Given the description of an element on the screen output the (x, y) to click on. 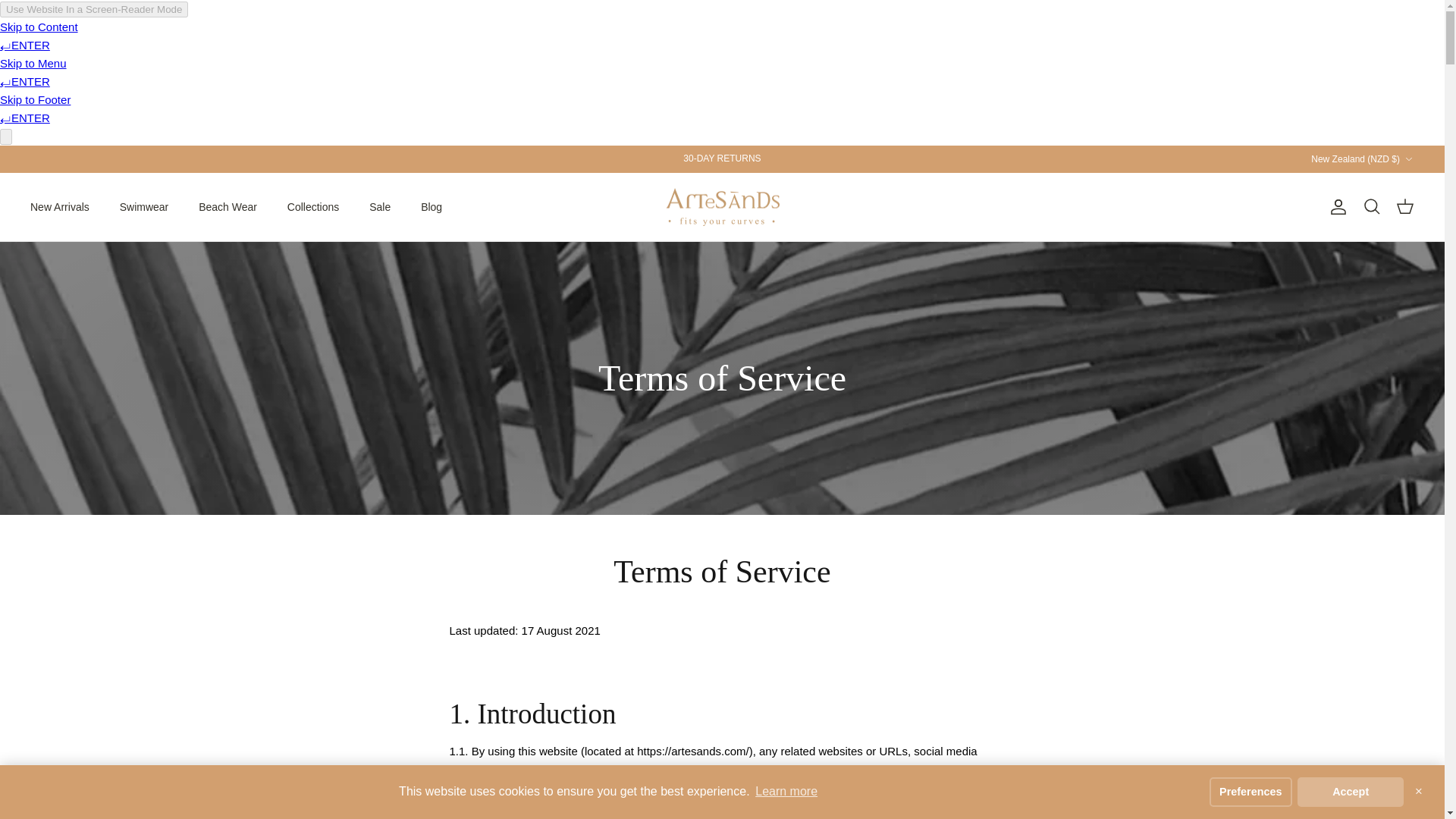
Search (1371, 207)
Collections (312, 206)
Learn more (785, 791)
Cart (1404, 207)
Beach Wear (227, 206)
Account (1335, 207)
Down (1408, 158)
Artesands Swim Australia (721, 207)
Swimwear (144, 206)
Accept (1350, 791)
Blog (431, 206)
New Arrivals (59, 206)
Sale (379, 206)
Preferences (1250, 791)
